Given the description of an element on the screen output the (x, y) to click on. 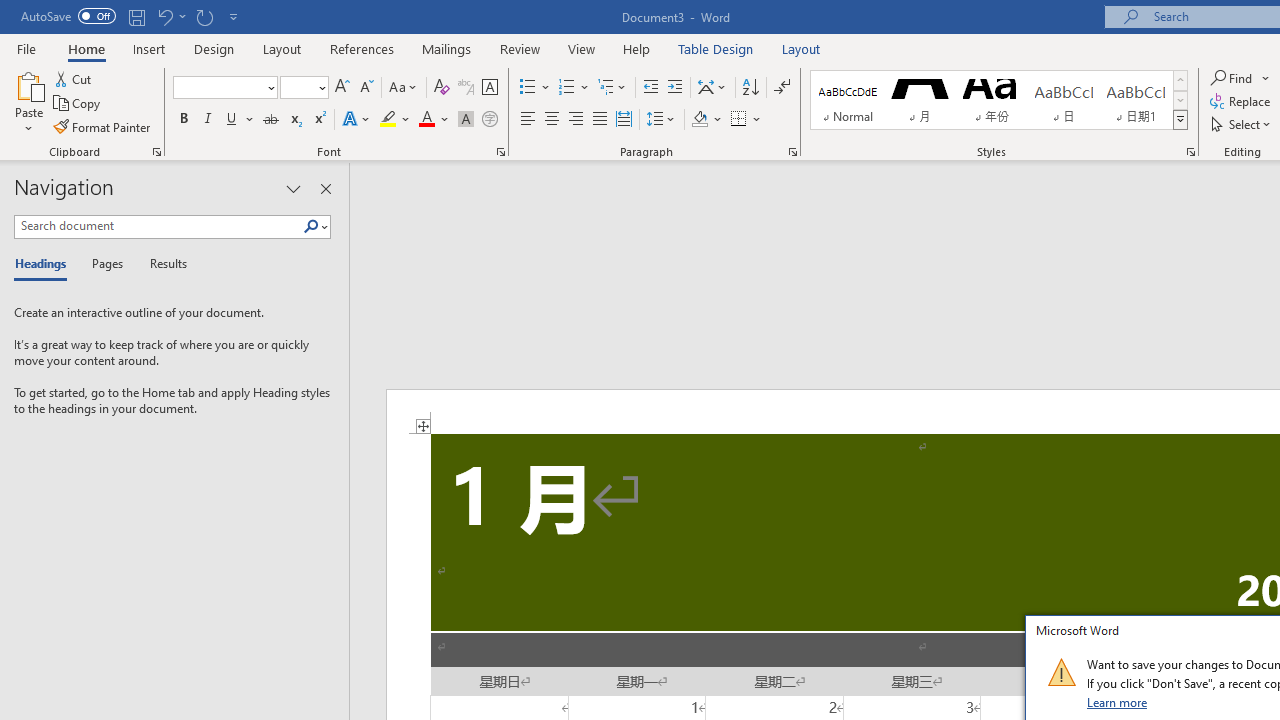
Character Border (489, 87)
Learn more (1118, 702)
Change Case (404, 87)
